Given the description of an element on the screen output the (x, y) to click on. 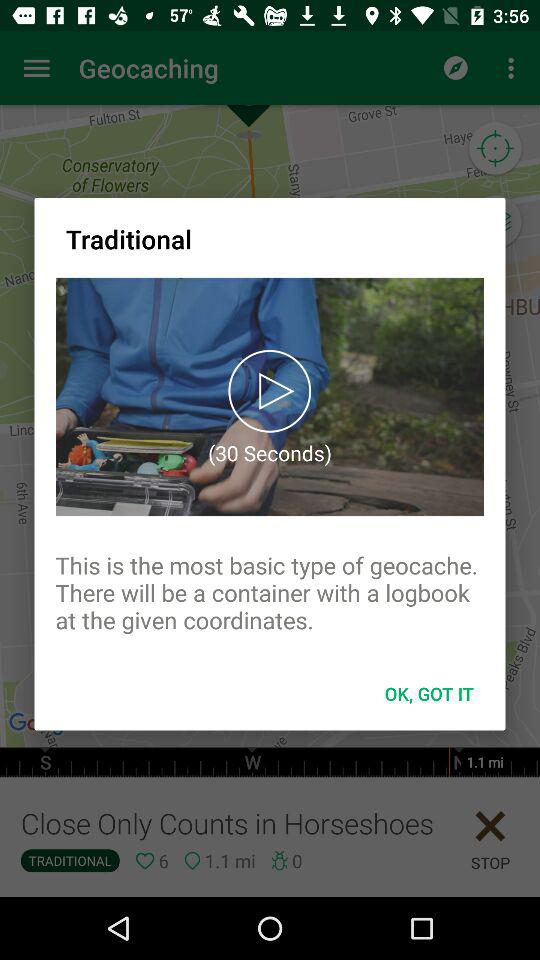
click the item at the bottom right corner (429, 693)
